Given the description of an element on the screen output the (x, y) to click on. 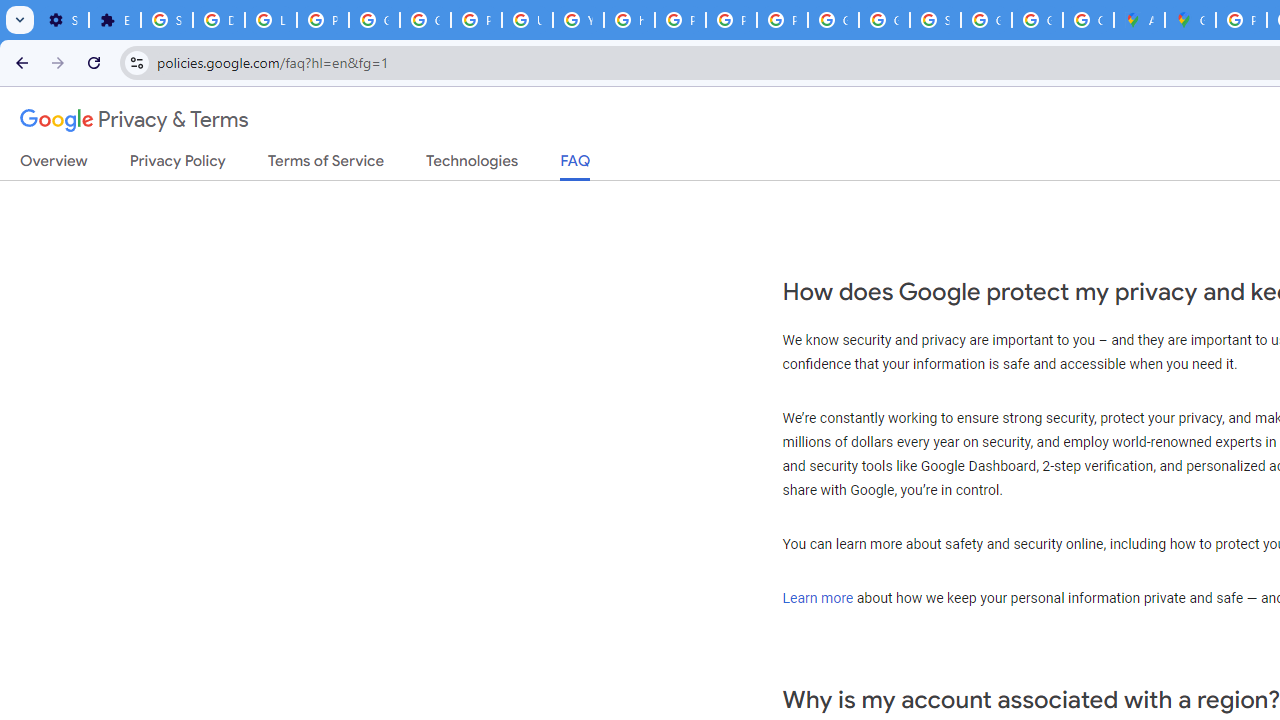
https://scholar.google.com/ (629, 20)
Learn more (817, 597)
Google Maps (1189, 20)
Extensions (114, 20)
Delete photos & videos - Computer - Google Photos Help (218, 20)
Create your Google Account (1087, 20)
